Given the description of an element on the screen output the (x, y) to click on. 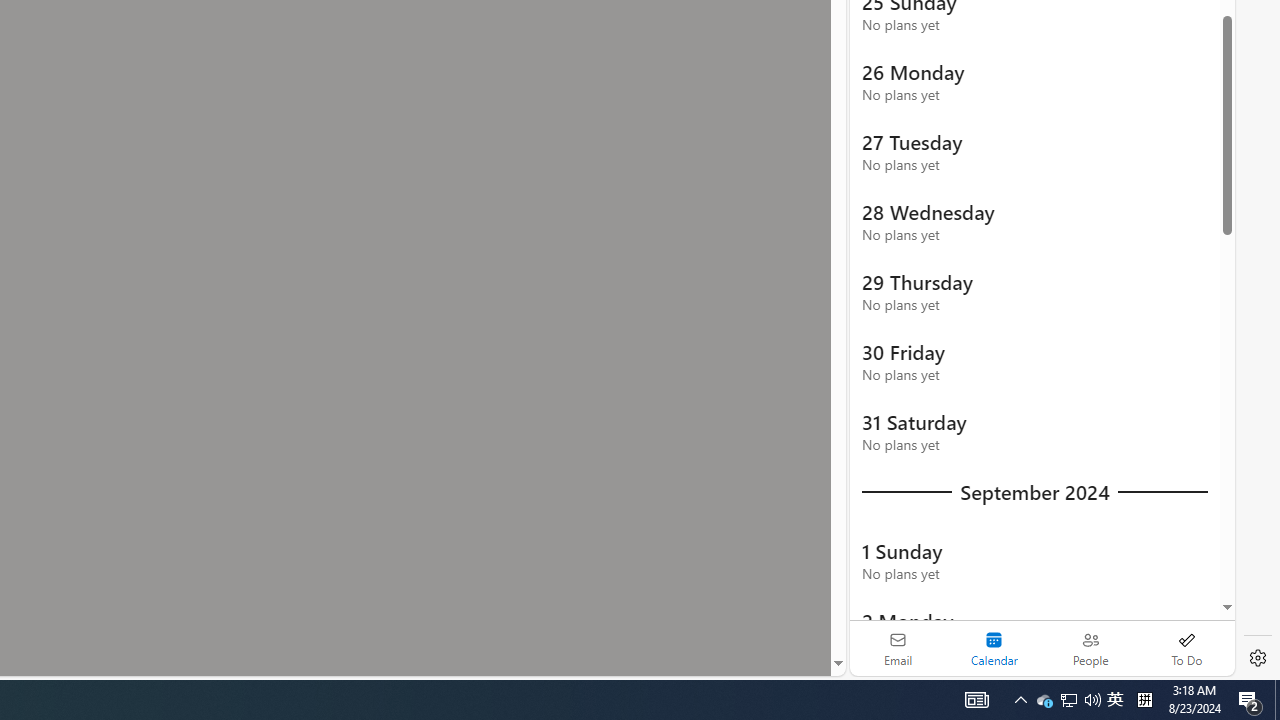
To Do (1186, 648)
People (1090, 648)
Email (898, 648)
Selected calendar module. Date today is 22 (994, 648)
